Given the description of an element on the screen output the (x, y) to click on. 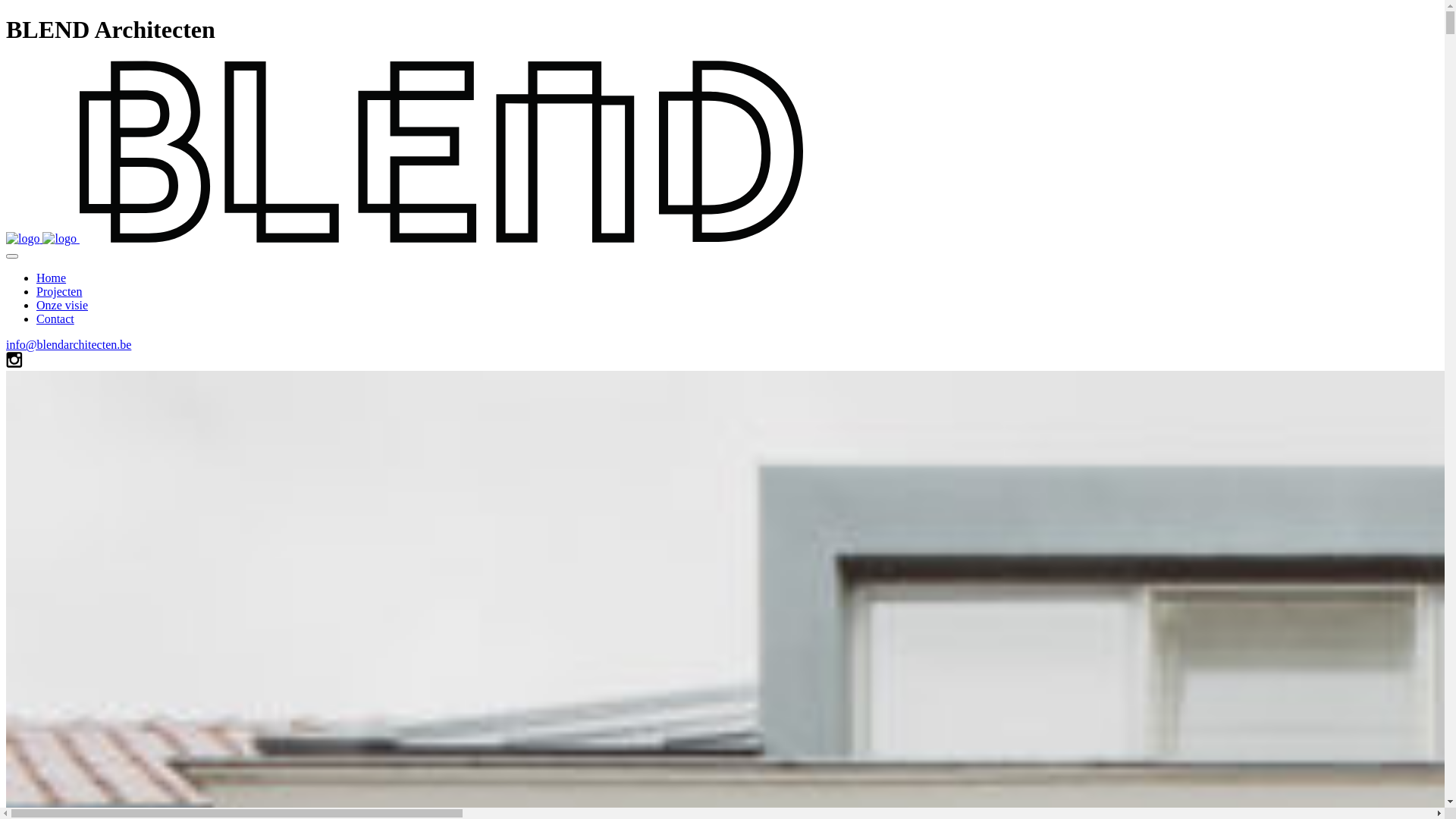
Contact Element type: text (55, 318)
Home Element type: text (50, 277)
info@blendarchitecten.be Element type: text (68, 344)
Onze visie Element type: text (61, 304)
Projecten Element type: text (58, 291)
